Given the description of an element on the screen output the (x, y) to click on. 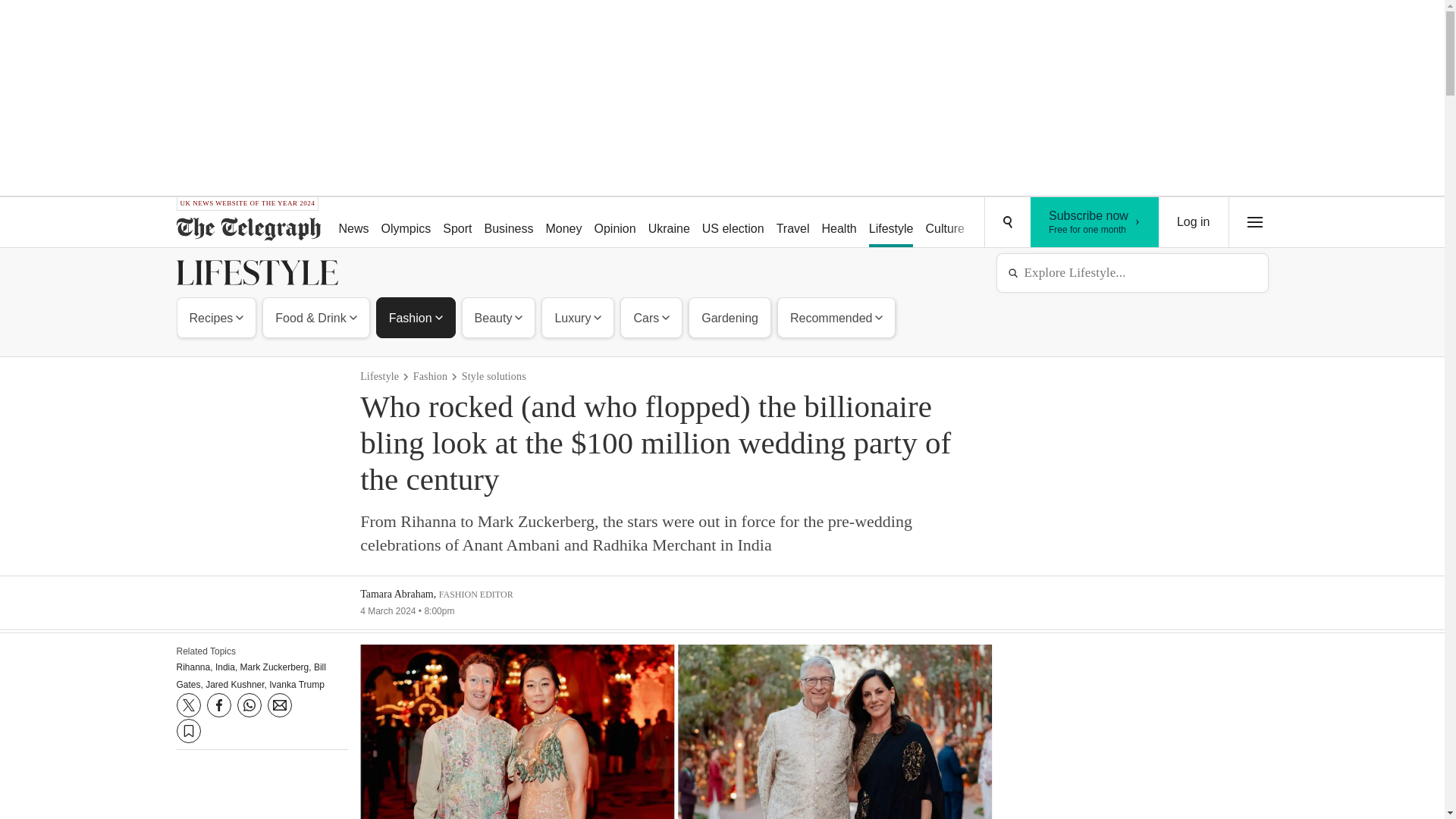
Culture (944, 223)
Podcasts (1056, 223)
Lifestyle (891, 223)
Recipes (216, 317)
US election (732, 223)
Log in (1193, 222)
Ukraine (668, 223)
Travel (792, 223)
Opinion (615, 223)
Health (838, 223)
Puzzles (998, 223)
Olympics (406, 223)
Business (509, 223)
Money (563, 223)
